Given the description of an element on the screen output the (x, y) to click on. 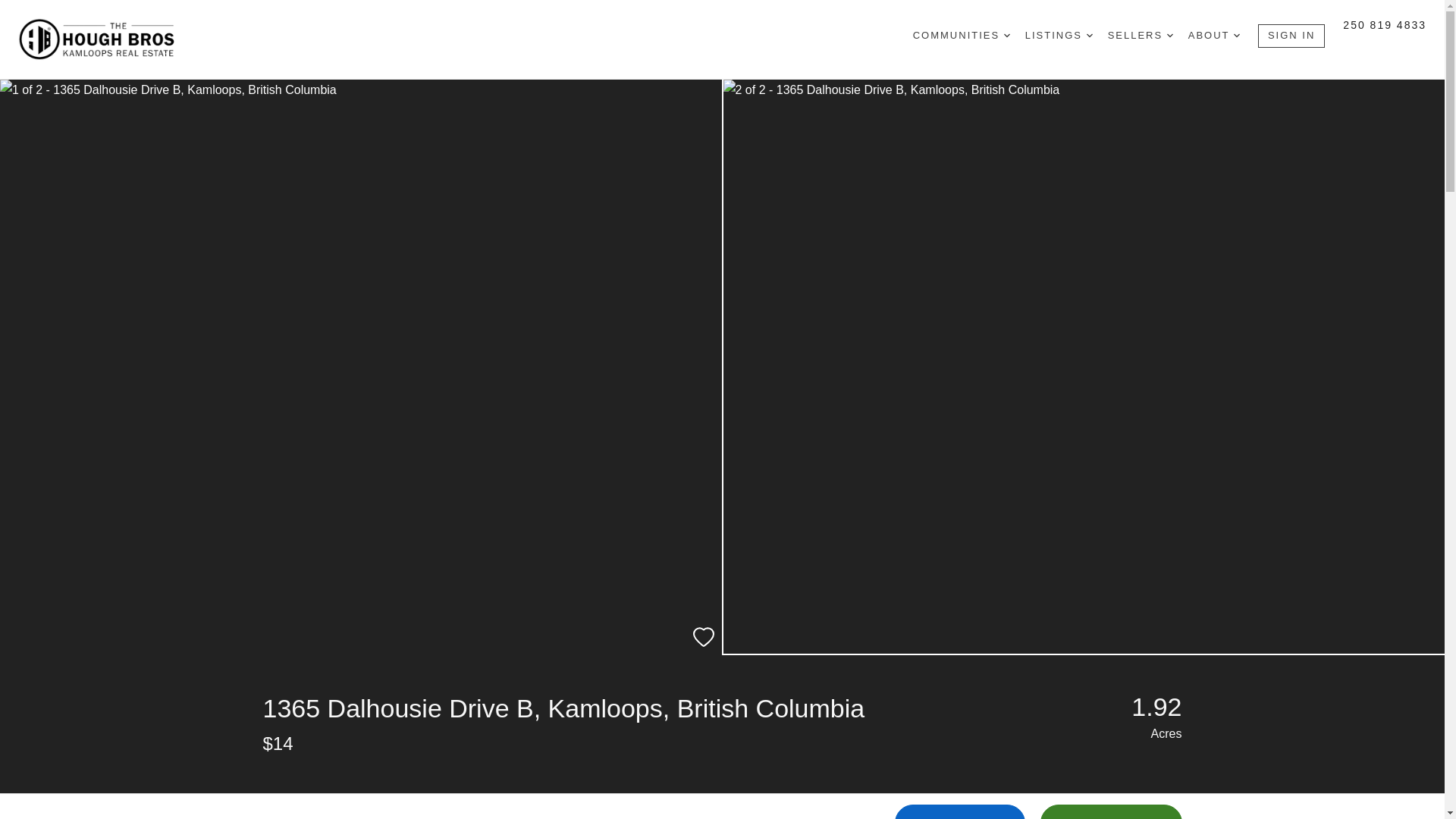
DROPDOWN ARROW (1170, 35)
SELLERS DROPDOWN ARROW (1140, 35)
LISTINGS DROPDOWN ARROW (1059, 35)
ABOUT DROPDOWN ARROW (1214, 35)
DROPDOWN ARROW (1236, 35)
COMMUNITIES DROPDOWN ARROW (961, 35)
DROPDOWN ARROW (1007, 35)
DROPDOWN ARROW (1089, 35)
